Given the description of an element on the screen output the (x, y) to click on. 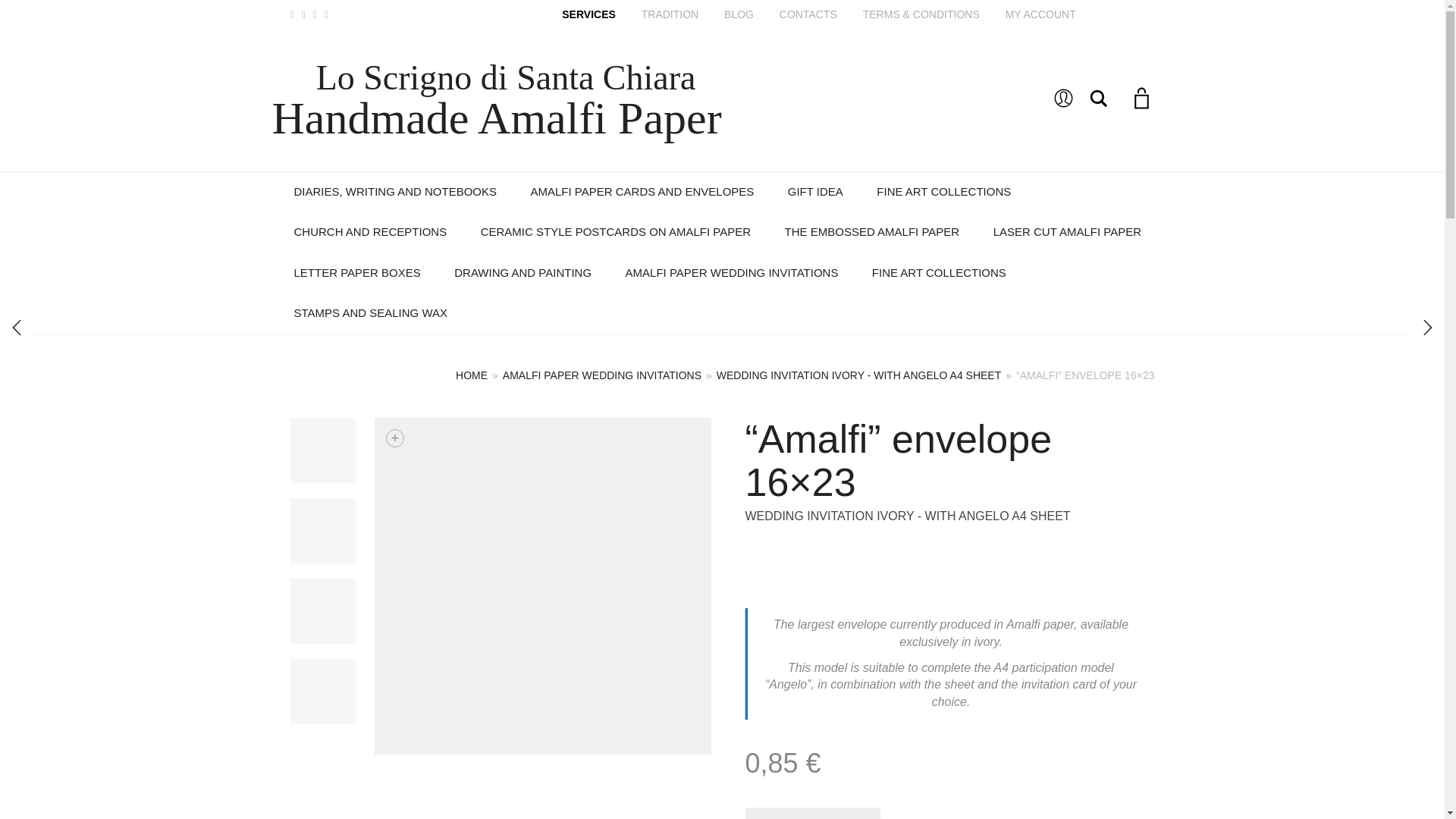
STAMPS AND SEALING WAX (371, 313)
THE EMBOSSED AMALFI PAPER (872, 232)
GIFT IDEA (816, 191)
AMALFI PAPER WEDDING INVITATIONS (731, 273)
DRAWING AND PAINTING (523, 273)
FINE ART COLLECTIONS (943, 191)
CERAMIC STYLE POSTCARDS ON AMALFI PAPER (615, 232)
AMALFI PAPER CARDS AND ENVELOPES (642, 191)
BLOG (738, 14)
LETTER PAPER BOXES (357, 273)
MY ACCOUNT (1040, 14)
SERVICES (588, 14)
CHURCH AND RECEPTIONS (371, 232)
TRADITION (670, 14)
Search (1097, 97)
